Given the description of an element on the screen output the (x, y) to click on. 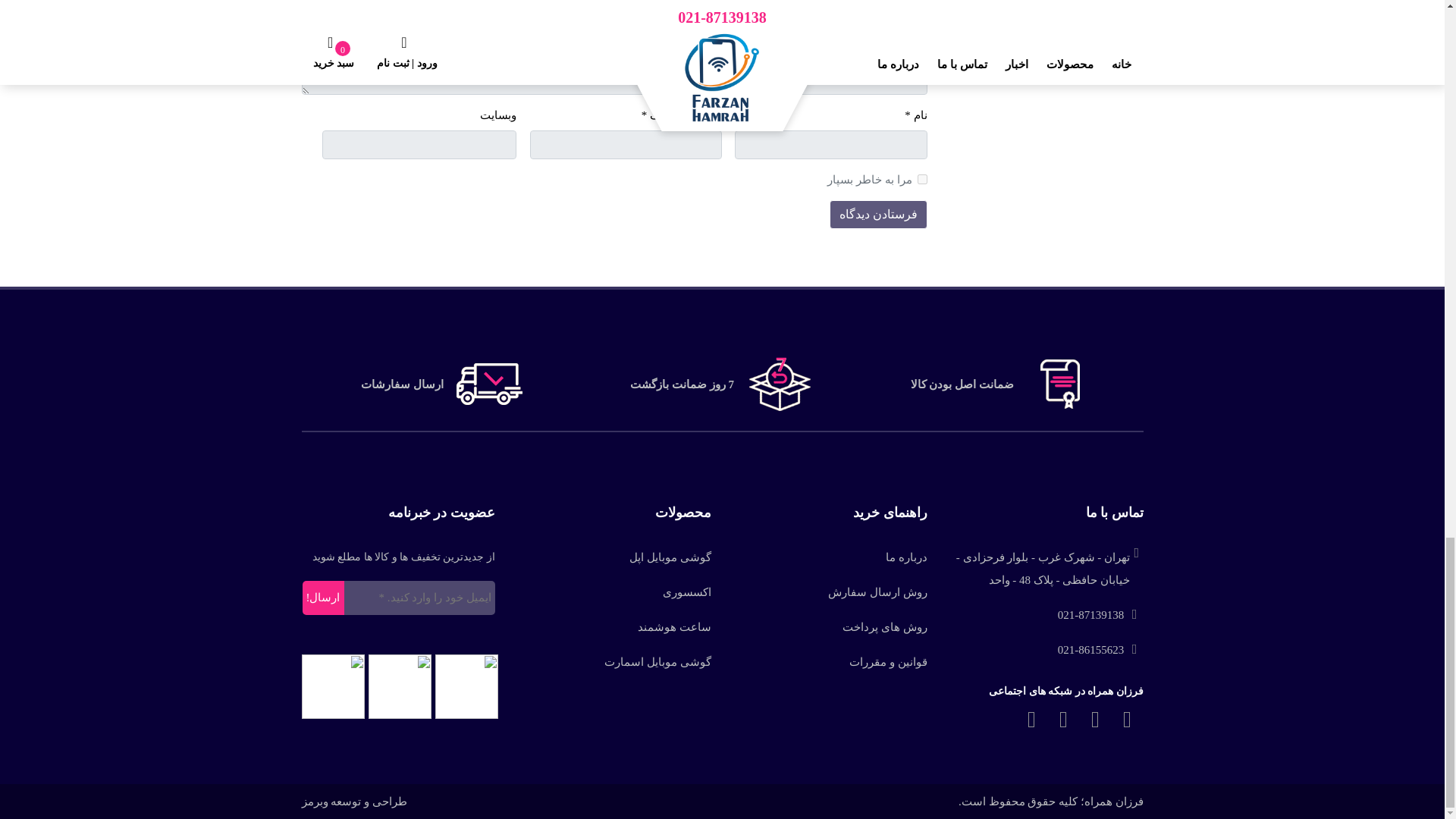
phone (1100, 614)
phone (1100, 649)
yes (922, 179)
webramz (354, 801)
aparat (1064, 719)
whatsapp (1127, 719)
instagram (1032, 719)
telegram (1096, 719)
